Given the description of an element on the screen output the (x, y) to click on. 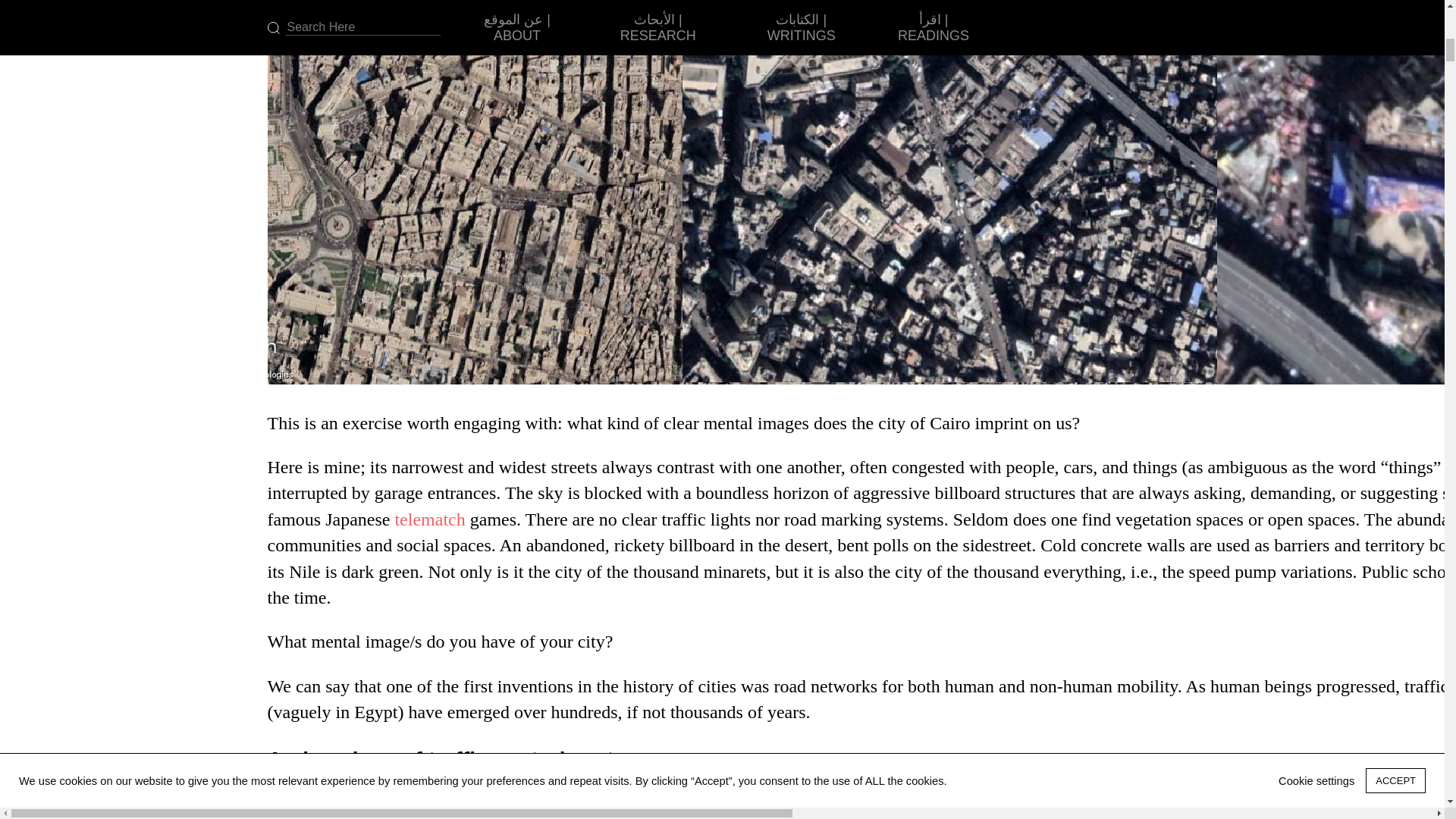
telematch (429, 519)
